Given the description of an element on the screen output the (x, y) to click on. 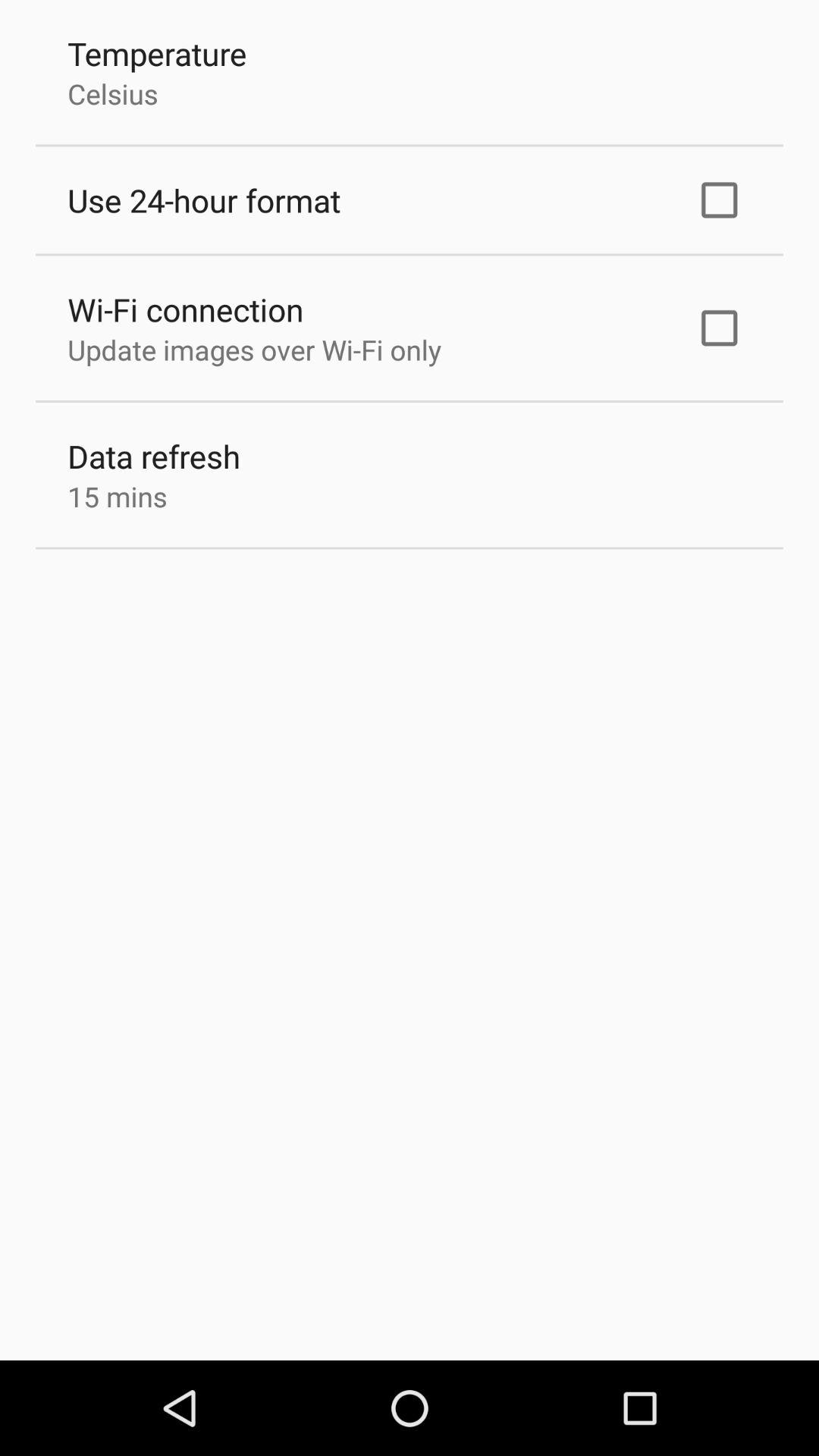
launch the item above the 15 mins item (153, 455)
